Given the description of an element on the screen output the (x, y) to click on. 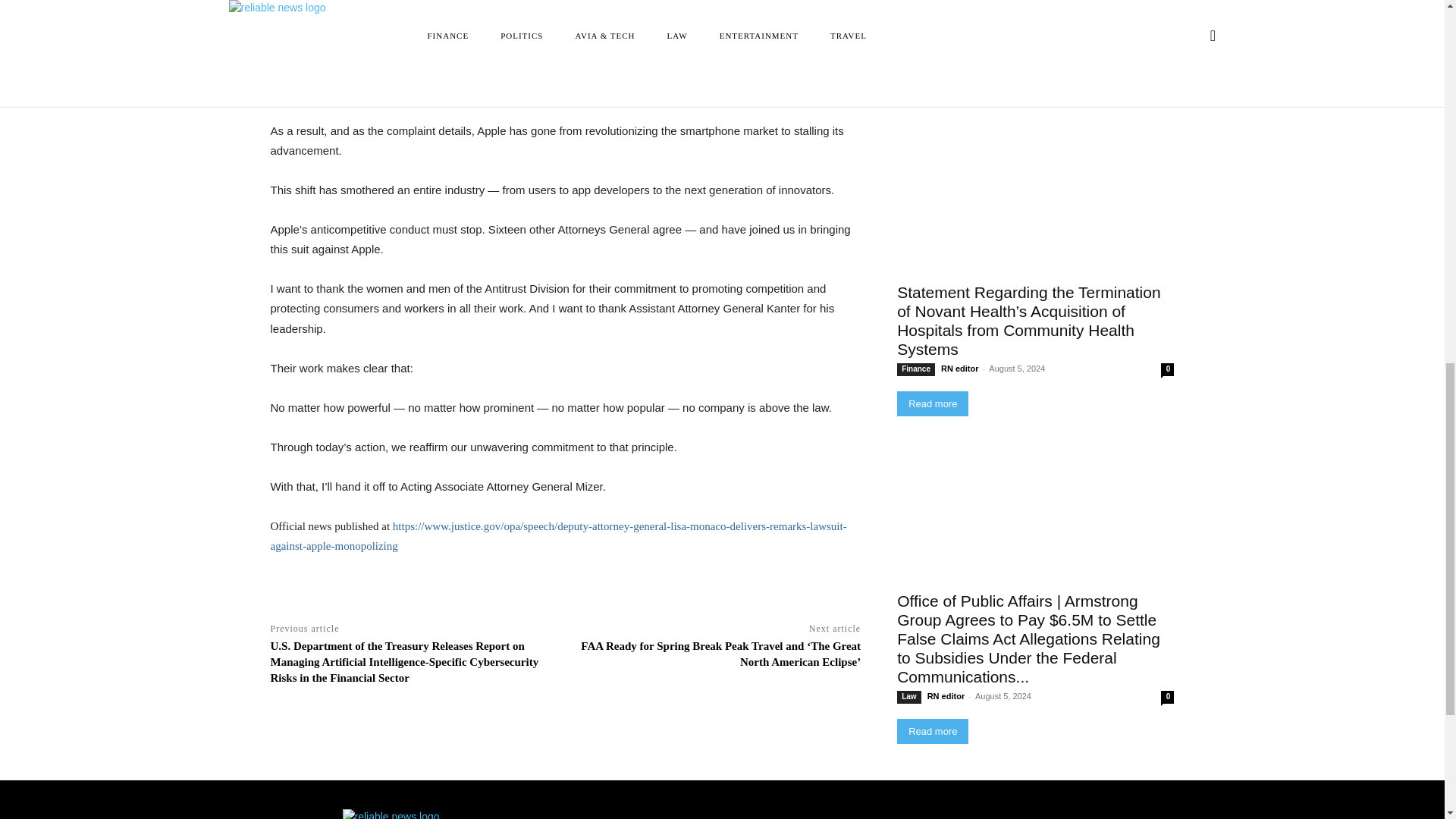
RN editor (953, 58)
Finance (915, 369)
Read more (932, 403)
0 (1166, 369)
Read more (932, 94)
0 (1166, 60)
Read more (932, 403)
Read more (932, 94)
Travel (912, 60)
